Given the description of an element on the screen output the (x, y) to click on. 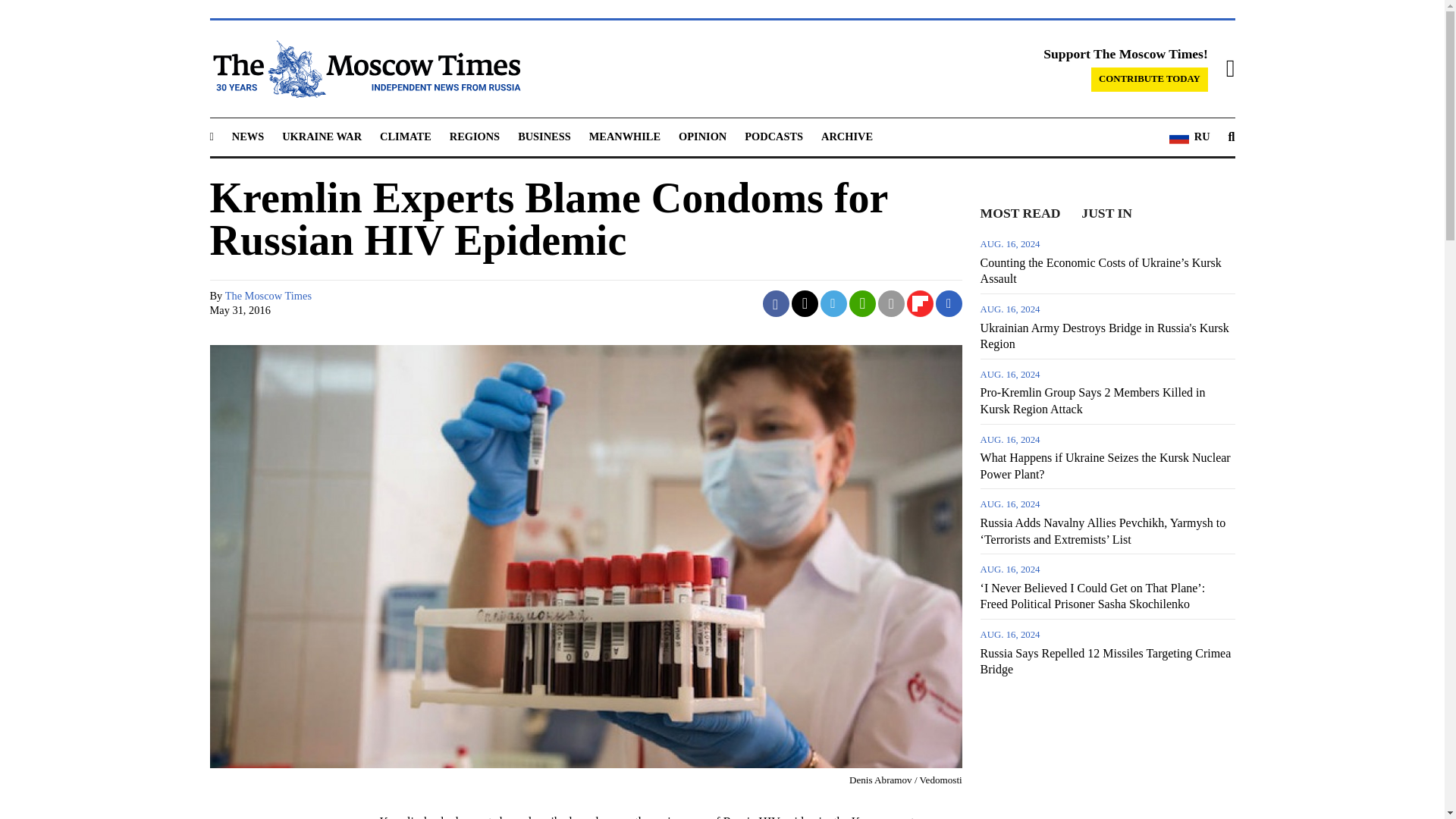
Ukrainian Army Destroys Bridge in Russia's Kursk Region (1106, 325)
CONTRIBUTE TODAY (1149, 79)
Share on Twitter (805, 303)
ARCHIVE (846, 136)
MEANWHILE (625, 136)
NEWS (247, 136)
The Moscow Times - Independent News from Russia (364, 68)
OPINION (702, 136)
BUSINESS (544, 136)
Share on Telegram (834, 303)
